Given the description of an element on the screen output the (x, y) to click on. 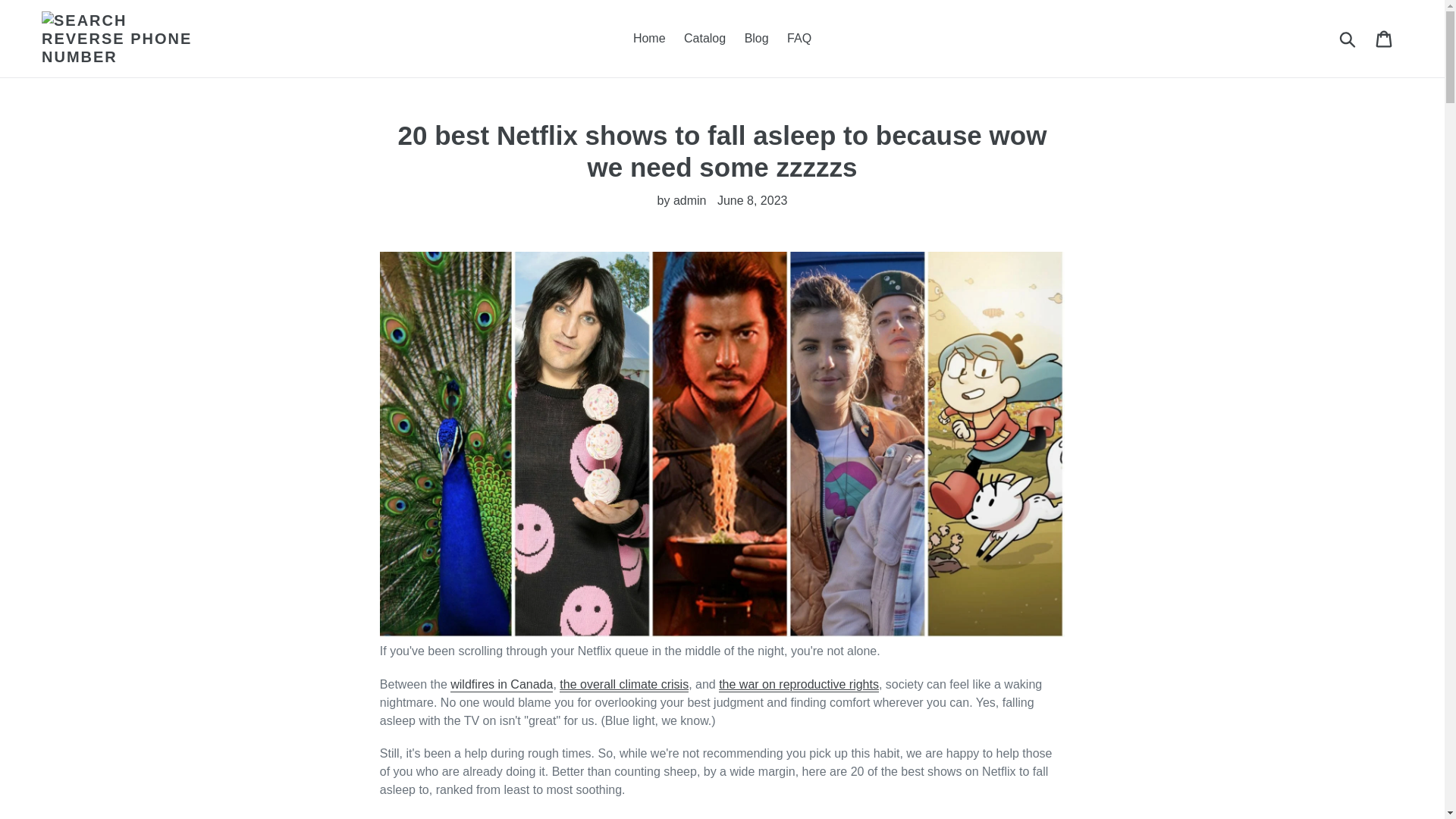
FAQ (798, 38)
wildfires in Canada (501, 685)
the war on reproductive rights (799, 685)
the overall climate crisis (623, 685)
Catalog (705, 38)
Cart (1385, 38)
Blog (756, 38)
Submit (1348, 38)
Home (649, 38)
